Given the description of an element on the screen output the (x, y) to click on. 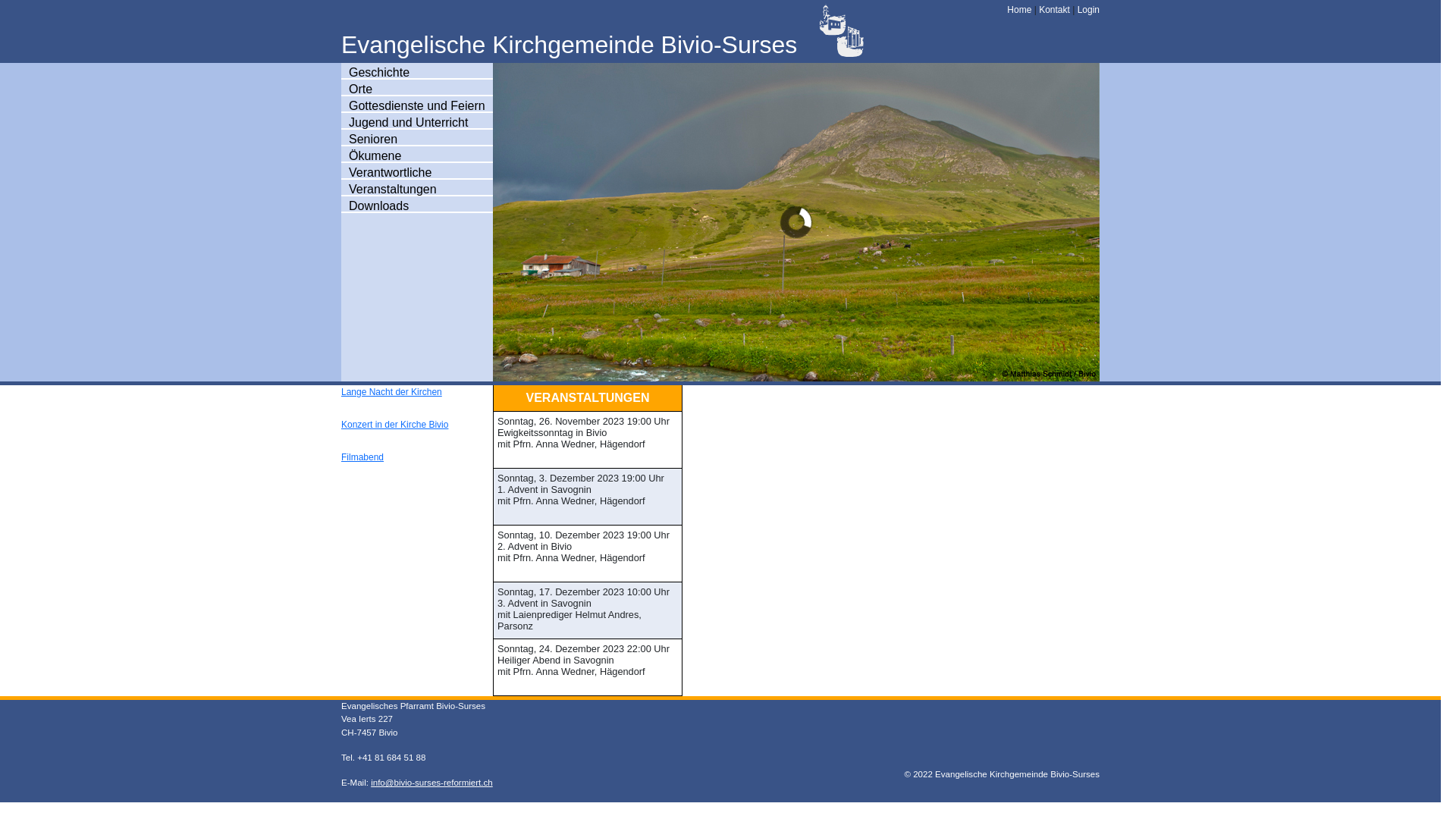
Jugend und Unterricht Element type: text (407, 122)
Geschichte Element type: text (378, 71)
Lange Nacht der Kirchen Element type: text (391, 391)
| Element type: text (1073, 9)
Veranstaltungen Element type: text (392, 188)
Senioren Element type: text (372, 138)
info@bivio-surses-reformiert.ch Element type: text (431, 782)
Gottesdienste und Feiern Element type: text (416, 105)
Konzert in der Kirche Bivio Element type: text (394, 424)
Verantwortliche Element type: text (389, 172)
Evangelische Kirchgemeinde Bivio-Surses Element type: text (569, 44)
Filmabend Element type: text (362, 456)
| Element type: text (1034, 9)
Home Element type: text (1019, 9)
Orte Element type: text (360, 88)
Downloads Element type: text (378, 205)
